Given the description of an element on the screen output the (x, y) to click on. 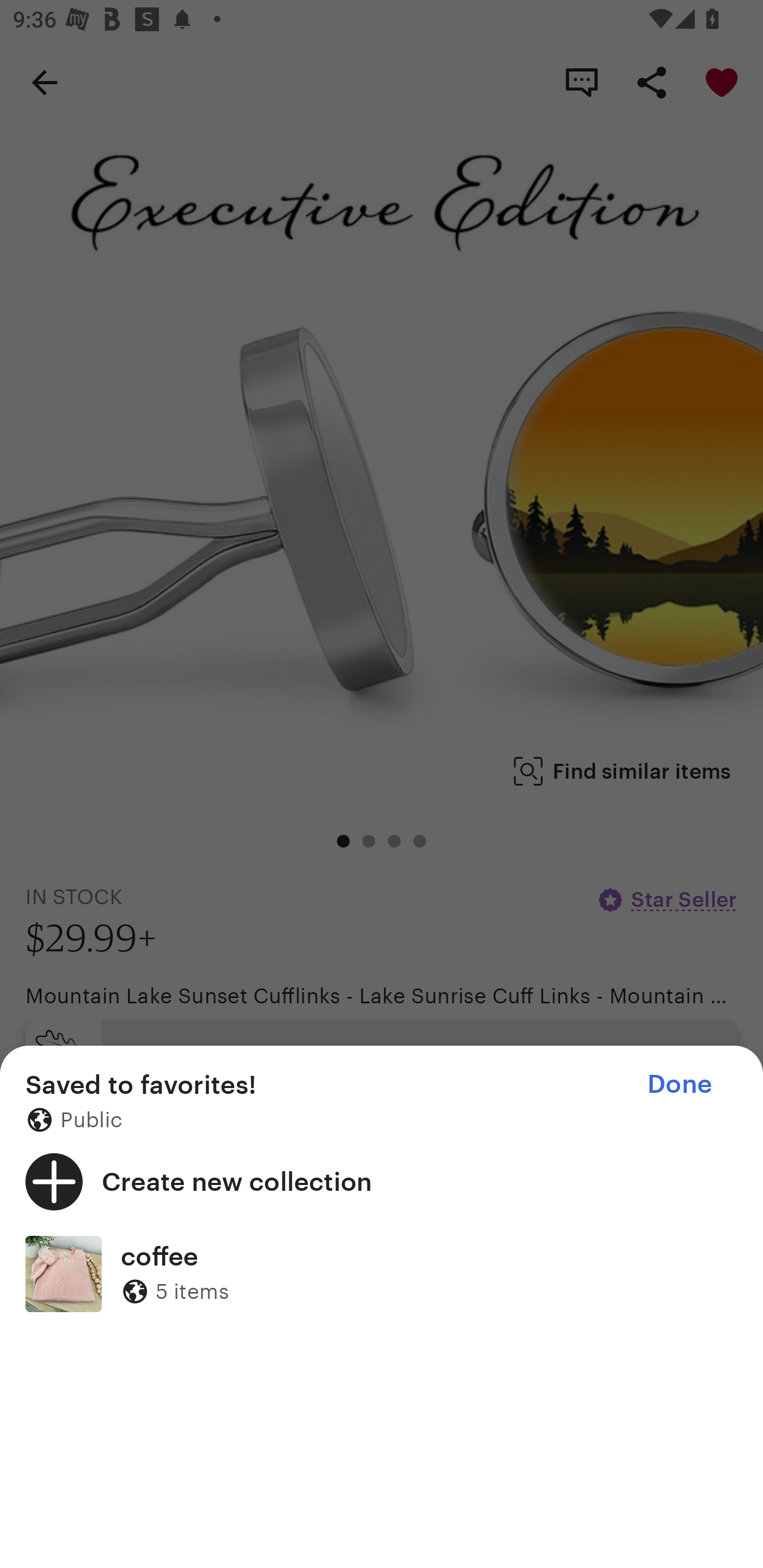
Done (679, 1083)
Create new collection (381, 1181)
coffee 5 items (381, 1273)
